Given the description of an element on the screen output the (x, y) to click on. 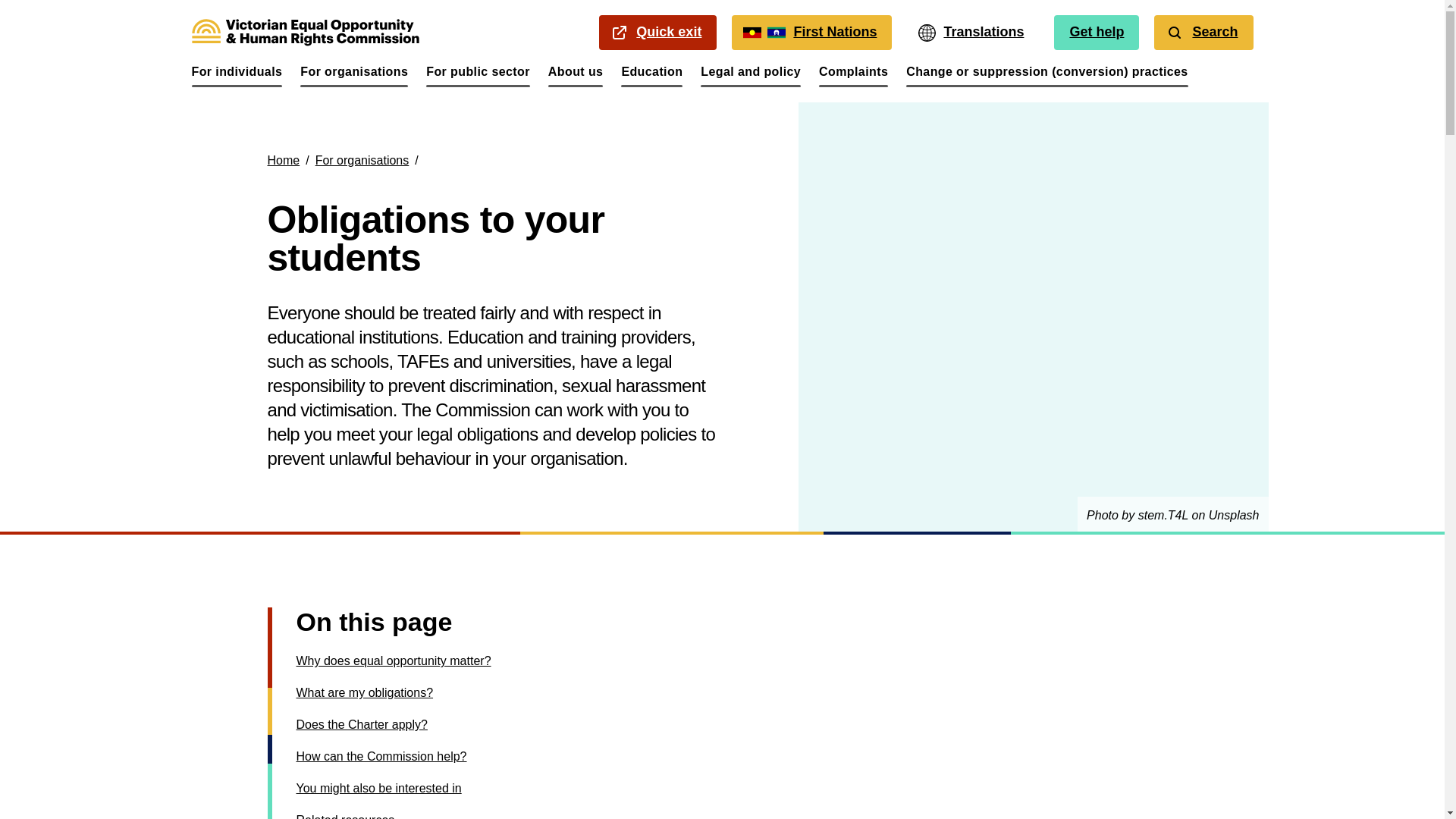
How can the Commission help? (236, 75)
You might also be interested in (380, 756)
Why does equal opportunity matter? (378, 788)
Go to the homepage (651, 75)
Get help (853, 75)
First Nations (353, 75)
Quick exit (392, 660)
Translations (304, 31)
